Given the description of an element on the screen output the (x, y) to click on. 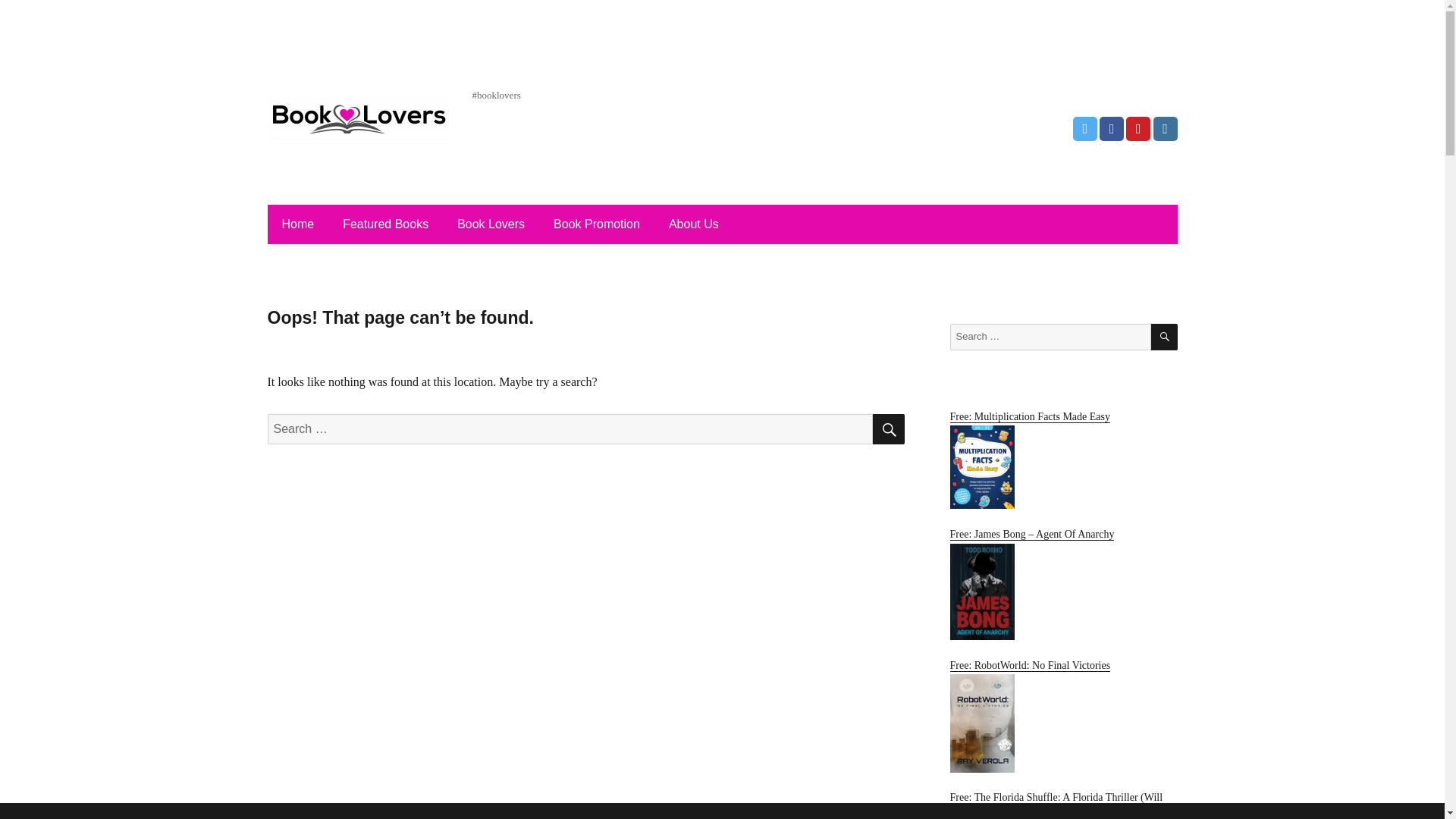
Free: RobotWorld: No Final Victories (1062, 716)
Book Promotion (596, 224)
Book Lovers (490, 224)
Featured Books (385, 224)
Instagram (1164, 128)
SEARCH (1164, 336)
About Us (693, 224)
Home (297, 224)
Facebook (1111, 128)
Pinterest (1137, 128)
